Given the description of an element on the screen output the (x, y) to click on. 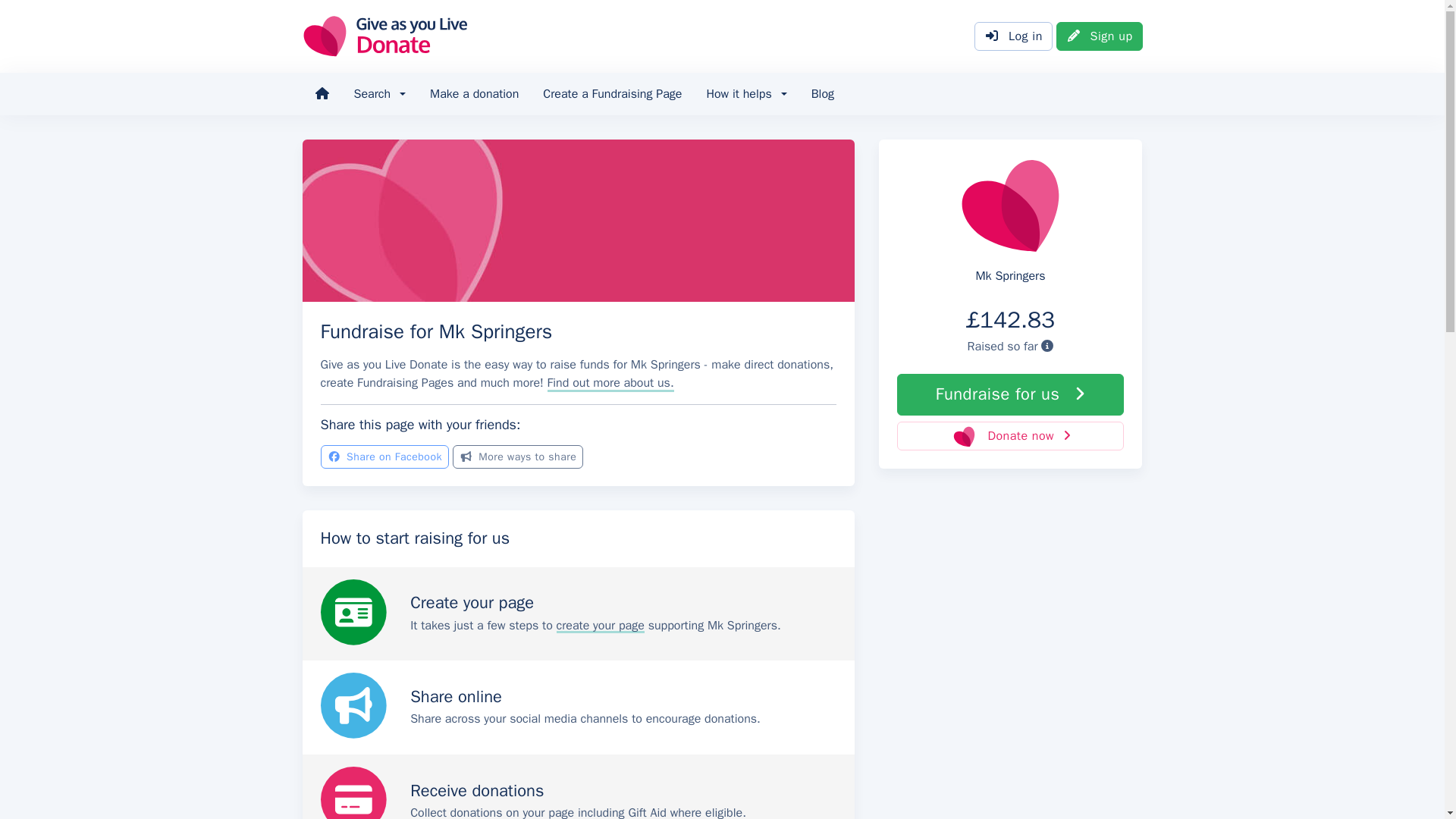
Share on Facebook (384, 456)
Search (378, 93)
Home (320, 93)
Find out more about us. (610, 382)
Sign up (1099, 36)
Fundraise for us (1010, 394)
Blog (822, 93)
Make a donation (474, 93)
Log in (1013, 36)
create your page (600, 625)
Create a Fundraising Page (612, 93)
How it helps (745, 93)
Donate now (1010, 435)
More ways to share (517, 456)
